Given the description of an element on the screen output the (x, y) to click on. 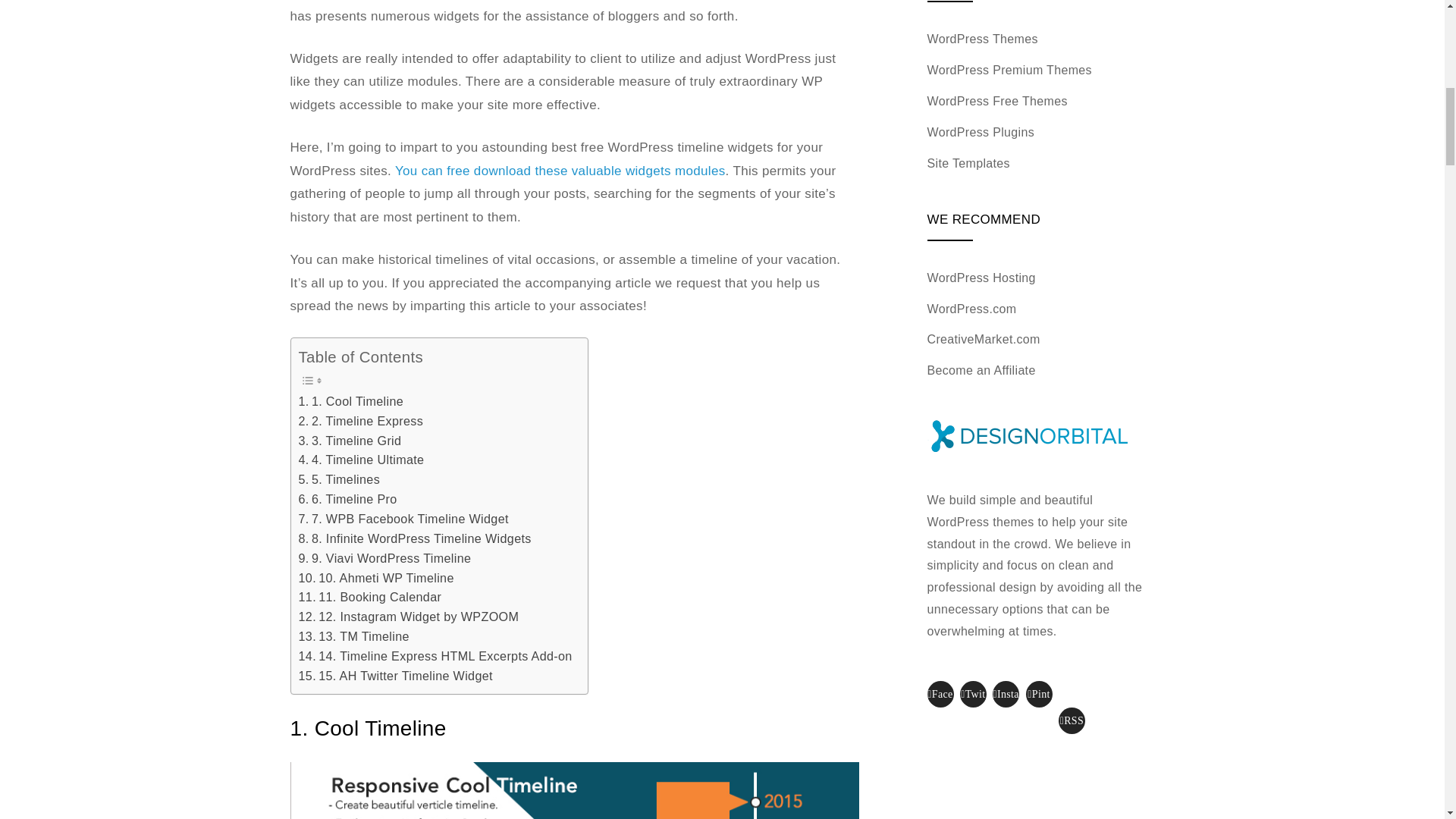
4. Timeline Ultimate (361, 460)
12. Instagram Widget by WPZOOM (408, 617)
1. Cool Timeline (351, 401)
15. AH Twitter Timeline Widget (395, 676)
8. Infinite WordPress Timeline Widgets (414, 538)
13. TM Timeline (353, 637)
3. Timeline Grid (349, 441)
40 Best Free Slider Plugins for WordPress 2017 (559, 170)
9. Viavi WordPress Timeline (384, 558)
6. Timeline Pro (347, 499)
13. TM Timeline (353, 637)
